Given the description of an element on the screen output the (x, y) to click on. 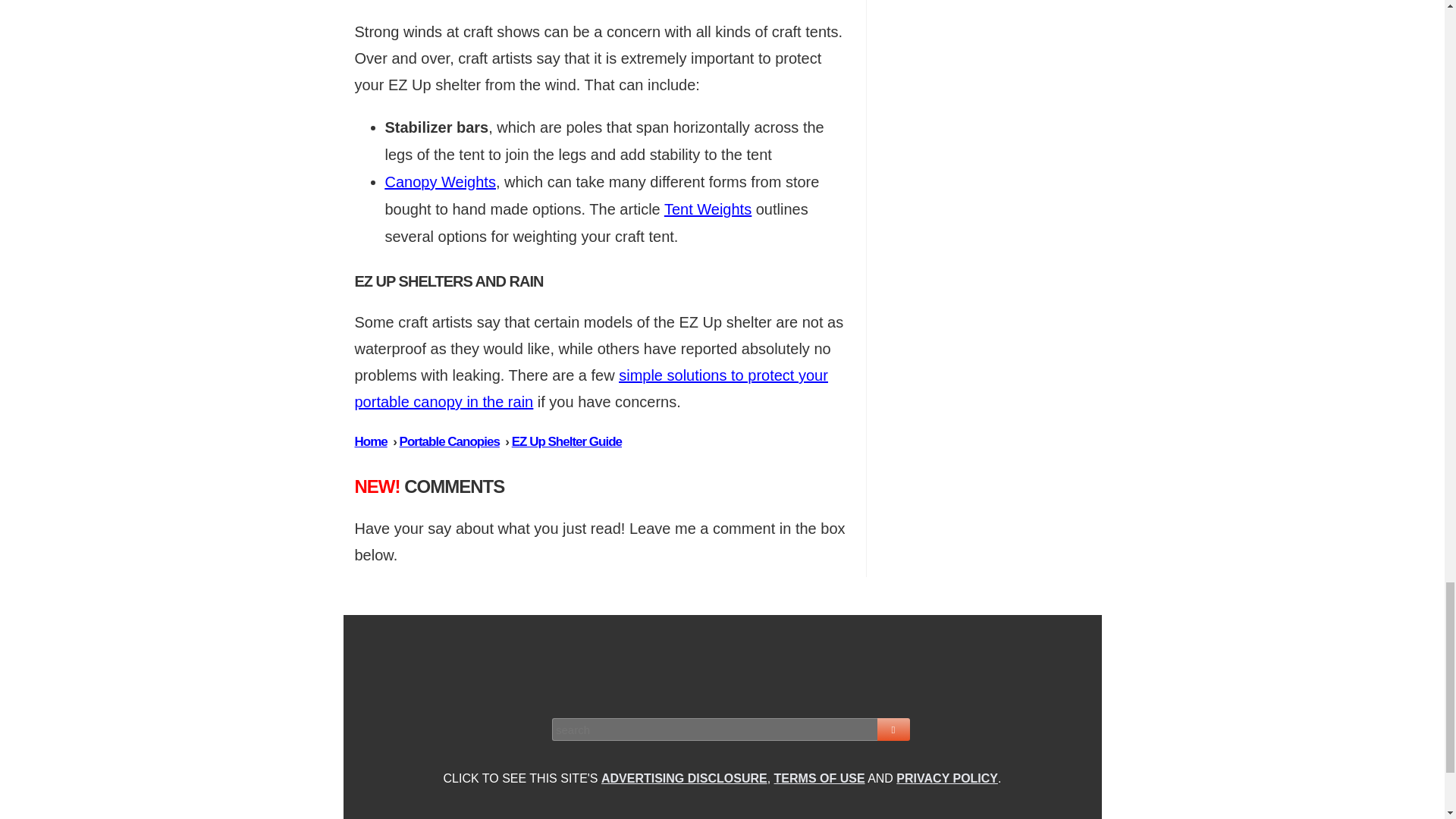
Portable Canopies (448, 441)
Home (371, 441)
Tent Weights (707, 208)
Canopy Weights (440, 181)
simple solutions to protect your portable canopy in the rain (591, 388)
PRIVACY POLICY (946, 778)
TERMS OF USE (819, 778)
Logo (722, 663)
ADVERTISING DISCLOSURE (684, 778)
EZ Up Shelter Guide (566, 441)
